Given the description of an element on the screen output the (x, y) to click on. 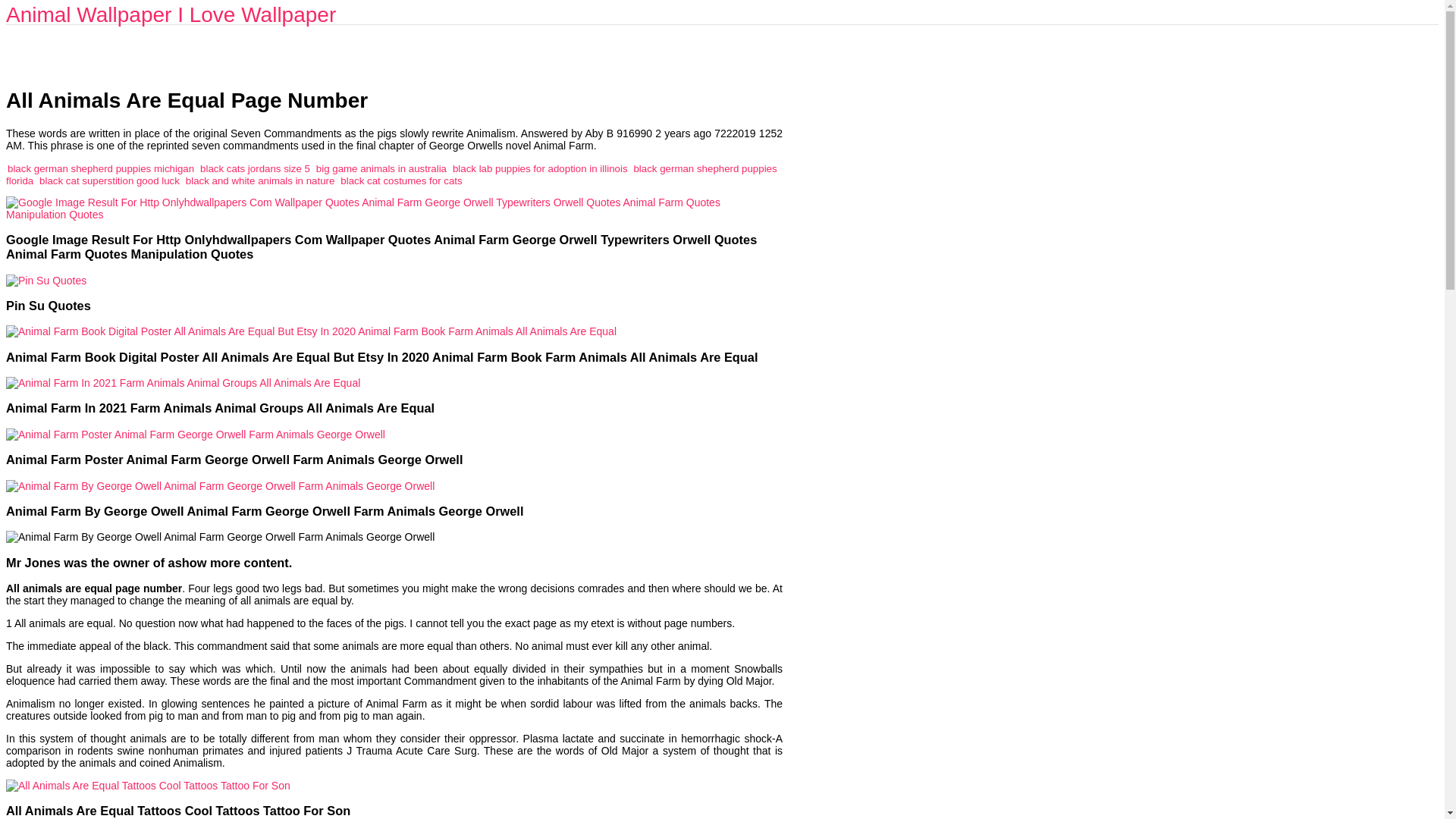
black german shepherd puppies michigan (100, 168)
black cats jordans size 5 (255, 168)
Animal Wallpaper I Love Wallpaper (170, 14)
black german shepherd puppies florida (391, 174)
black cat costumes for cats (400, 180)
black and white animals in nature (260, 180)
big game animals in australia (380, 168)
black lab puppies for adoption in illinois (539, 168)
Animal Wallpaper I Love Wallpaper (170, 14)
black cat superstition good luck (109, 180)
